Given the description of an element on the screen output the (x, y) to click on. 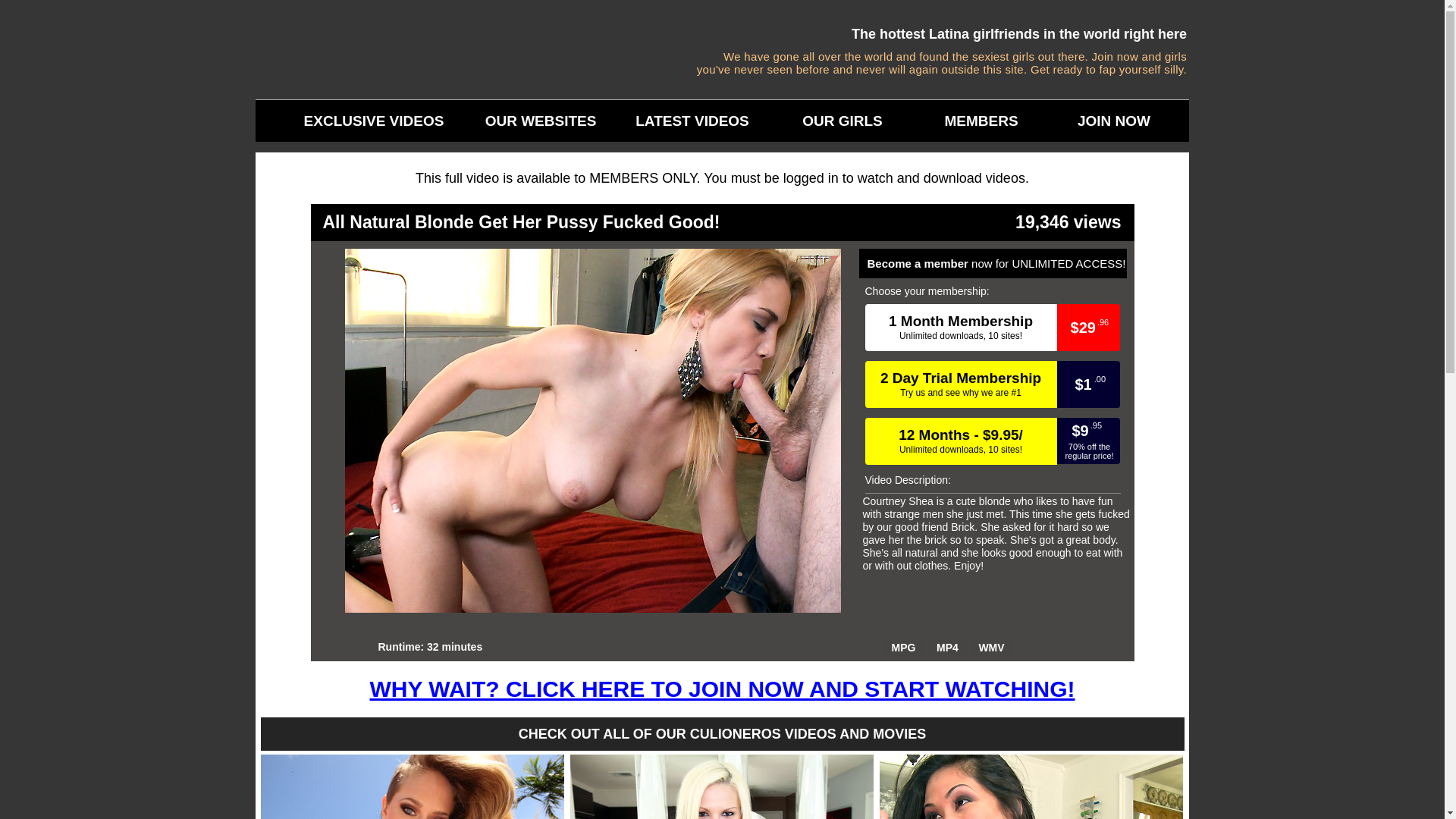
EXCLUSIVE VIDEOS (360, 120)
OUR WEBSITES (539, 120)
LATEST VIDEOS (722, 640)
MEMBERS (960, 327)
JOIN NOW (691, 120)
OUR GIRLS (981, 120)
WHY WAIT? CLICK HERE TO JOIN NOW AND START WATCHING! (1113, 120)
Latina Porn Exposed (842, 120)
